Given the description of an element on the screen output the (x, y) to click on. 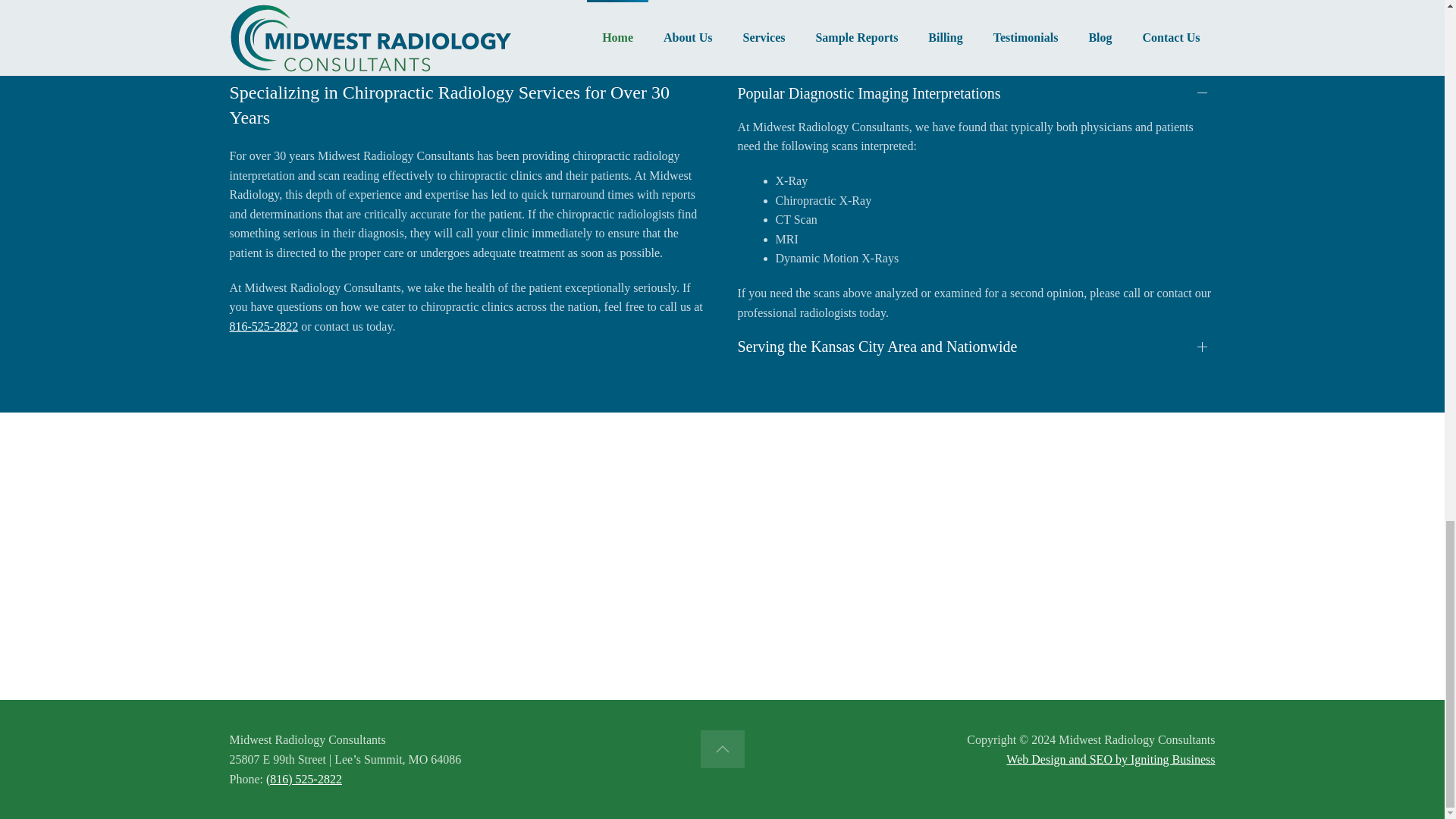
Serving the Kansas City Area and Nationwide (975, 346)
816-525-2822 (288, 563)
816-525-2822 (263, 326)
Popular Diagnostic Imaging Interpretations (975, 93)
